Given the description of an element on the screen output the (x, y) to click on. 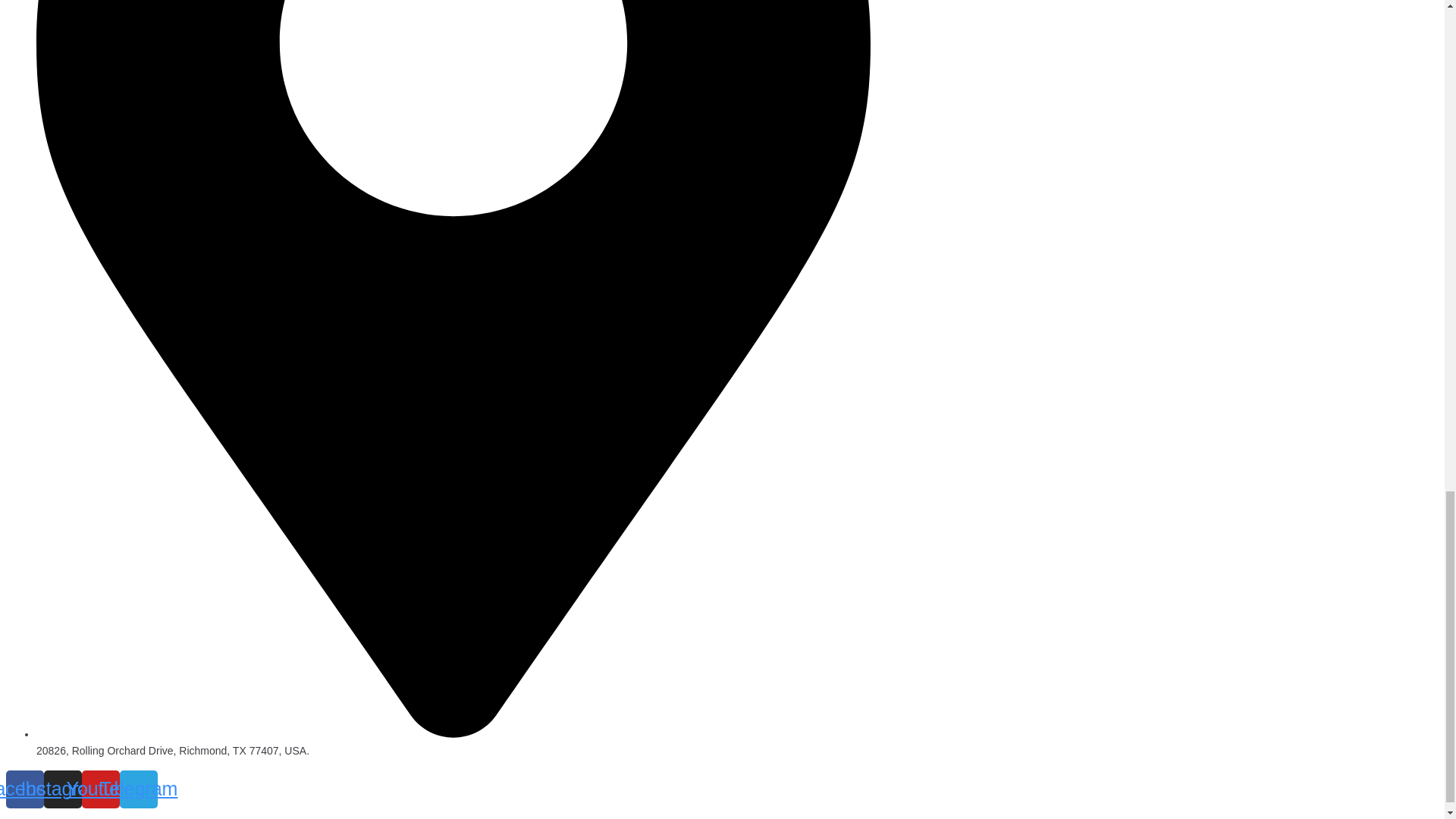
Facebook (24, 789)
Telegram (138, 789)
Instagram (62, 789)
Youtube (100, 789)
